Given the description of an element on the screen output the (x, y) to click on. 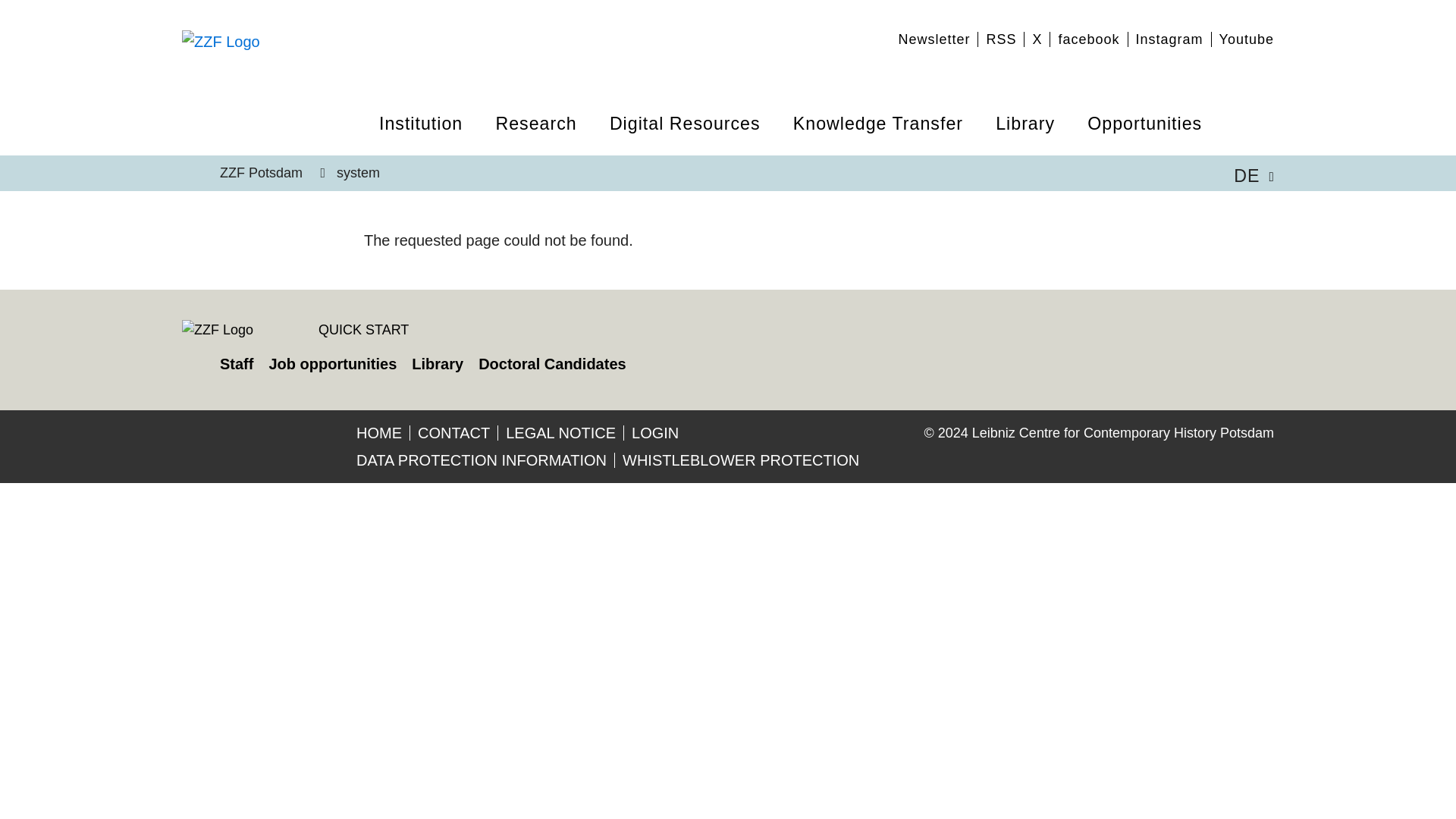
Bibliothek (437, 363)
Impressum (560, 433)
Das ZZF bei Youtube (1247, 38)
Forschung (1000, 38)
Research (544, 135)
Institution (429, 135)
Newsletter (933, 38)
Das ZZF bei Instagram (1169, 38)
Login (654, 433)
Stellenangebote (331, 363)
back to start (221, 41)
Skip to main content (74, 12)
Kontakt (453, 433)
Das ZZF bei facebook (1088, 38)
Startseite (378, 433)
